Given the description of an element on the screen output the (x, y) to click on. 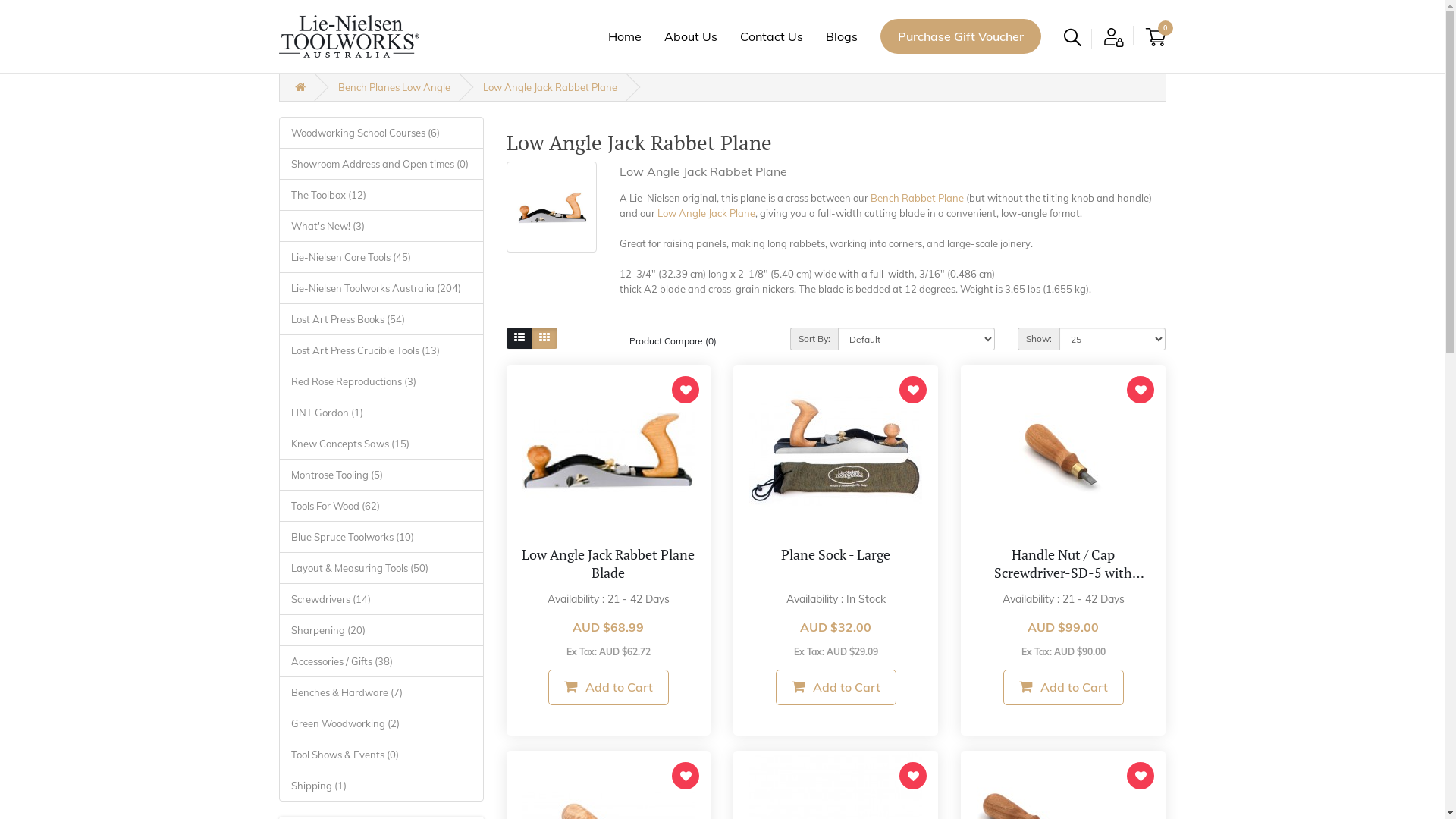
Sharpening (20) Element type: text (381, 630)
Screwdrivers (14) Element type: text (381, 598)
Product Compare (0) Element type: text (672, 340)
Add to Cart Element type: text (608, 687)
About Us Element type: text (690, 35)
Woodworking School Courses (6) Element type: text (381, 132)
Lie-Nielsen Core Tools (45) Element type: text (381, 257)
Shipping (1) Element type: text (381, 784)
Plane Sock - Large Element type: hover (835, 450)
Blogs Element type: text (840, 35)
Tools For Wood (62) Element type: text (381, 505)
0 Element type: text (1155, 37)
The Toolbox (12) Element type: text (381, 194)
Lost Art Press Books (54) Element type: text (381, 319)
Green Woodworking (2) Element type: text (381, 722)
Purchase Gift Voucher Element type: text (959, 35)
Accessories / Gifts (38) Element type: text (381, 660)
Low Angle Jack Rabbet Plane Blade Element type: text (607, 563)
Handle Nut / Cap Screwdriver-SD-5 with Cherry Handle Element type: hover (1062, 450)
HNT Gordon (1) Element type: text (381, 411)
What's New! (3) Element type: text (381, 225)
Bench Planes Low Angle Element type: text (394, 86)
Blue Spruce Toolworks (10) Element type: text (381, 536)
My Account Element type: hover (1112, 37)
Bench Rabbet Plane Element type: text (916, 197)
Low Angle Jack Rabbet Plane Element type: hover (551, 206)
Add to Cart Element type: text (1063, 687)
Showroom Address and Open times (0) Element type: text (381, 162)
Tool Shows & Events (0) Element type: text (381, 754)
Home Element type: text (624, 35)
Low Angle Jack Rabbet Plane Blade Element type: hover (607, 450)
Layout & Measuring Tools (50) Element type: text (381, 567)
Knew Concepts Saws (15) Element type: text (381, 443)
Low Angle Jack Plane Element type: text (706, 213)
Lie-Nielsen Toolworks Australia (204) Element type: text (381, 287)
Handle Nut / Cap Screwdriver-SD-5 with Cherry Handle Element type: text (1069, 572)
Lost Art Press Crucible Tools (13) Element type: text (381, 349)
Benches & Hardware (7) Element type: text (381, 692)
Add to Cart Element type: text (835, 687)
Montrose Tooling (5) Element type: text (381, 473)
Contact Us Element type: text (771, 35)
Red Rose Reproductions (3) Element type: text (381, 381)
Plane Sock - Large Element type: text (835, 554)
Low Angle Jack Rabbet Plane Element type: text (549, 86)
